Given the description of an element on the screen output the (x, y) to click on. 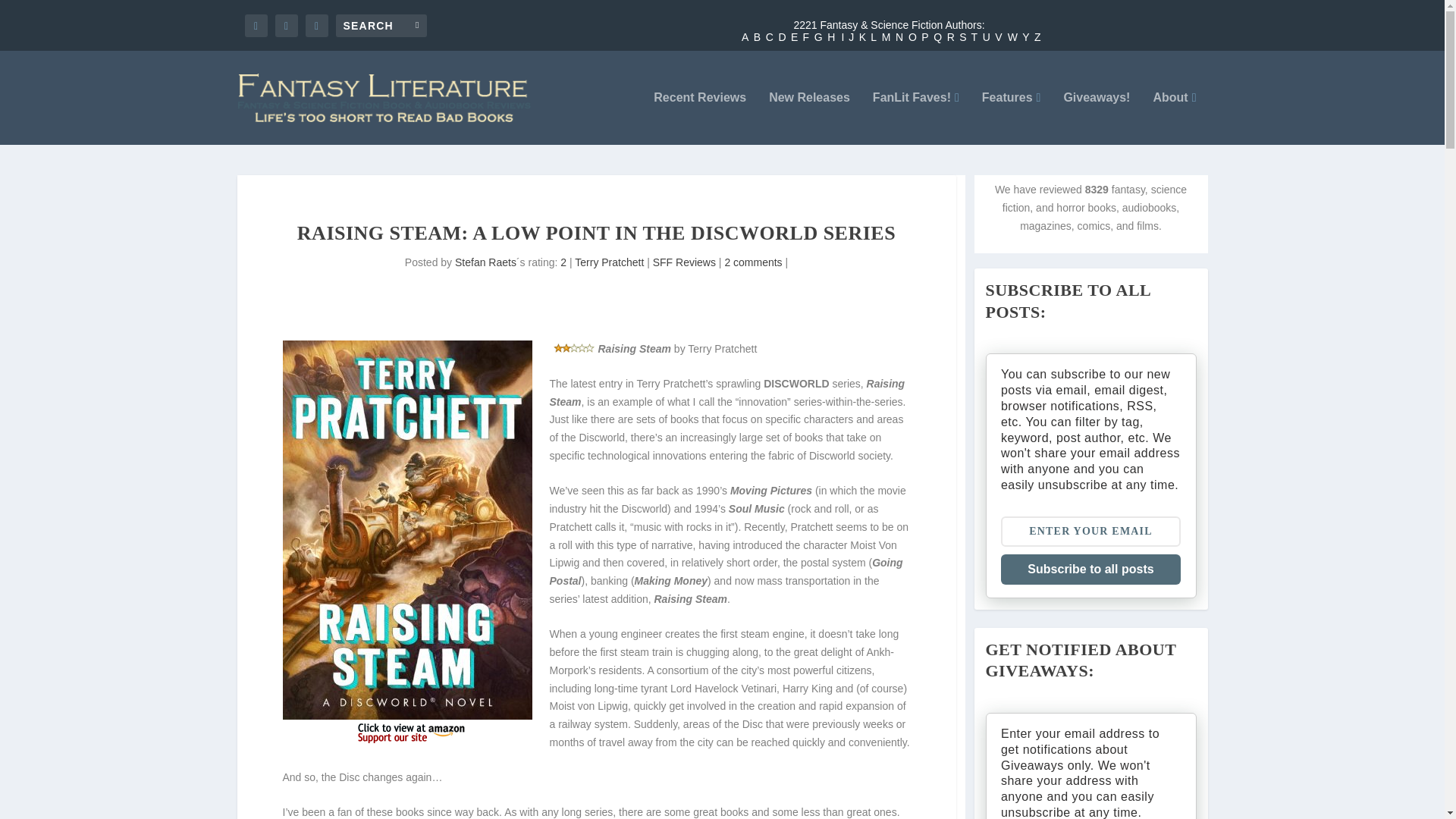
Posts by Stefan Raets (485, 262)
Search for: (380, 24)
FanLit Faves! (915, 117)
